Given the description of an element on the screen output the (x, y) to click on. 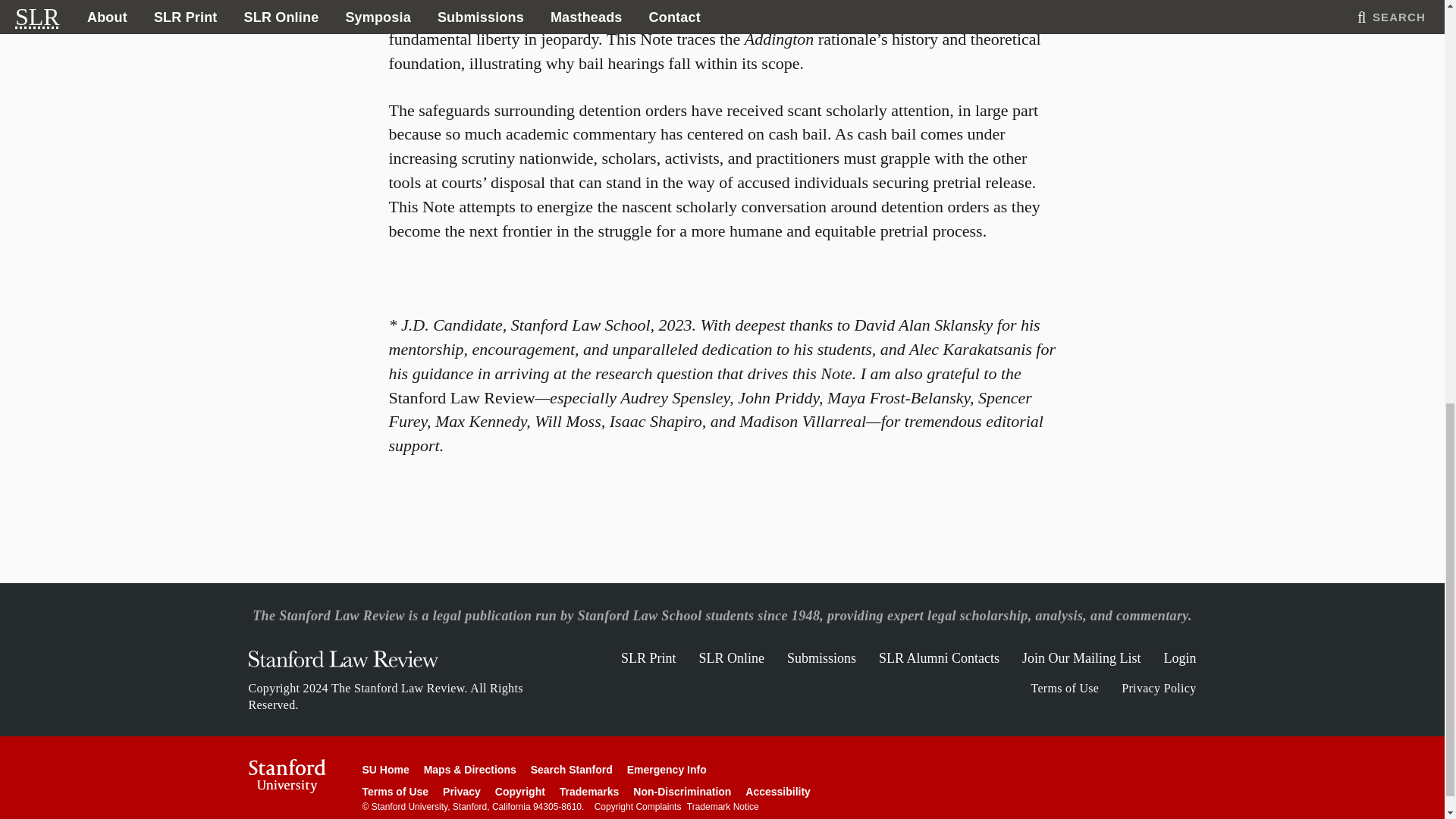
SLR Online (731, 657)
Join Our Mailing List (1081, 657)
Stanford Law Review (343, 662)
Emergency Info (666, 769)
Submissions (821, 657)
SU Home (385, 769)
Privacy Policy (1158, 687)
Login (1179, 657)
Search Stanford (571, 769)
SLR Alumni Contacts (938, 657)
Stanford University (287, 776)
Terms of Use (395, 791)
SLR Print (649, 657)
Report web accessibility issues (777, 791)
Terms of Use (1064, 687)
